Given the description of an element on the screen output the (x, y) to click on. 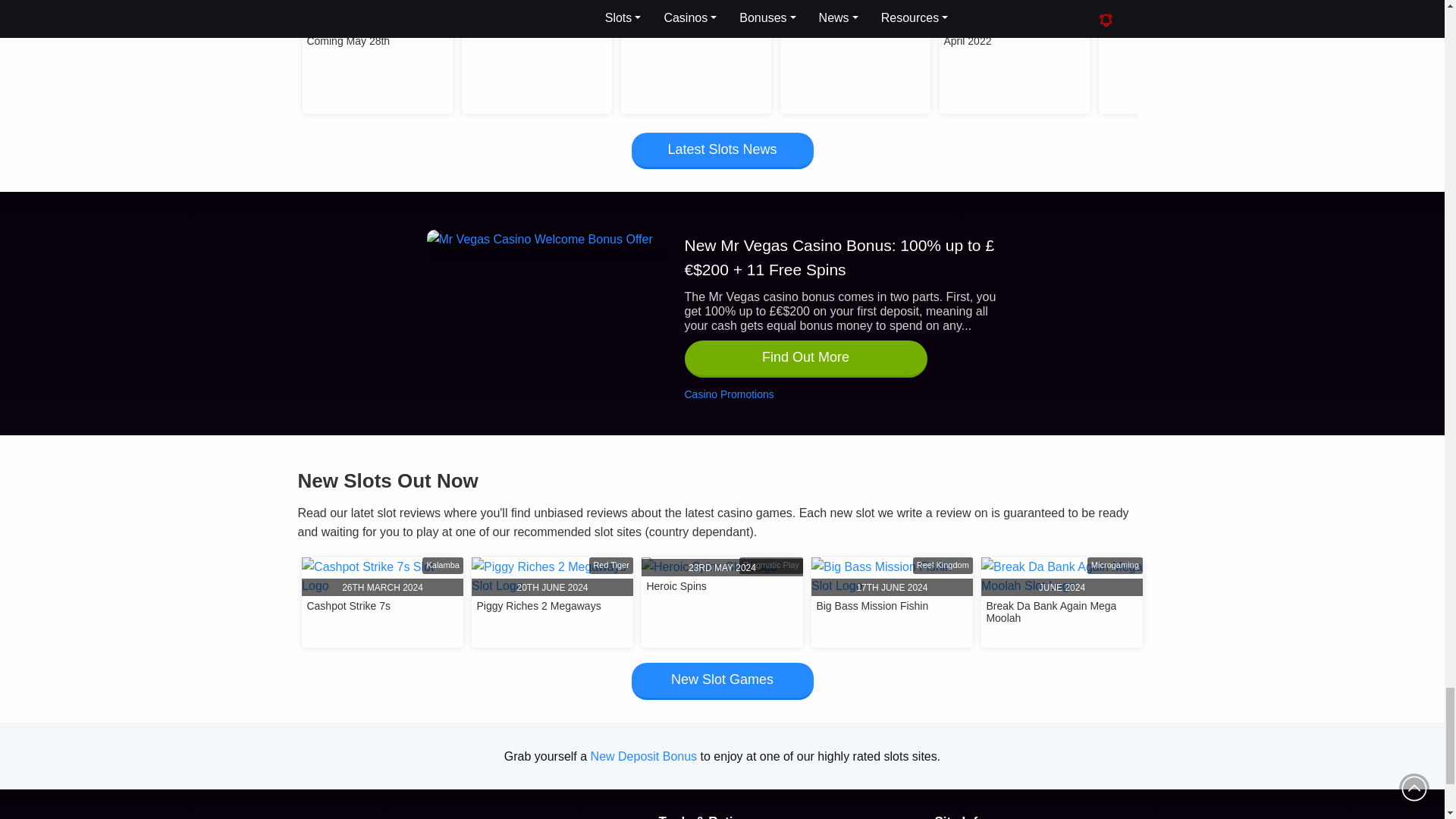
Home of Lucky Mobile Slots (445, 811)
Next (1139, 12)
